Given the description of an element on the screen output the (x, y) to click on. 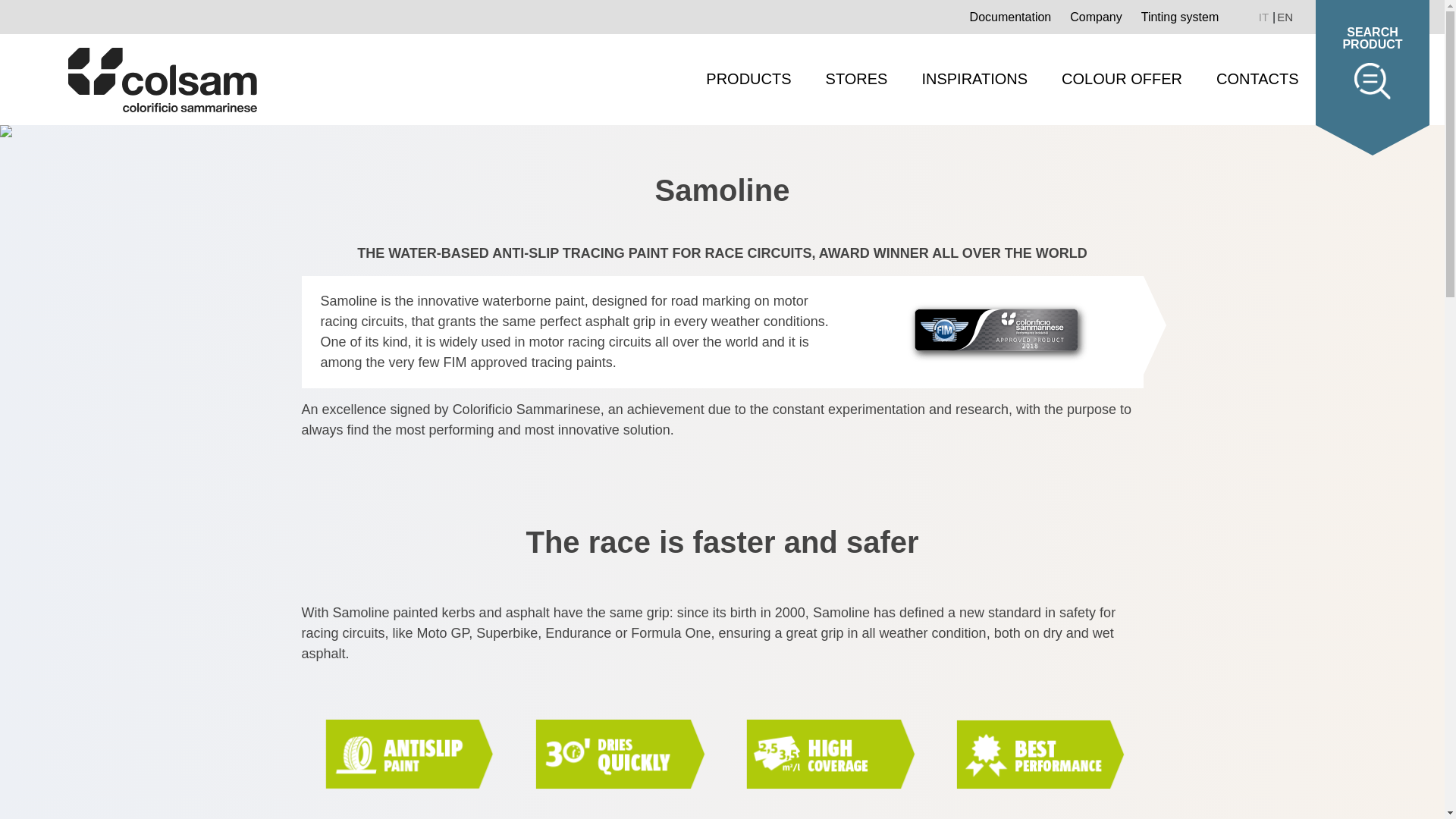
IT (1265, 16)
CONTACTS (1256, 78)
Documentation (1010, 17)
INSPIRATIONS (974, 78)
STORES (856, 78)
PRODUCTS (748, 78)
EN (1284, 16)
Tinting system (1180, 17)
COLOUR OFFER (1121, 78)
Company (1095, 17)
